Given the description of an element on the screen output the (x, y) to click on. 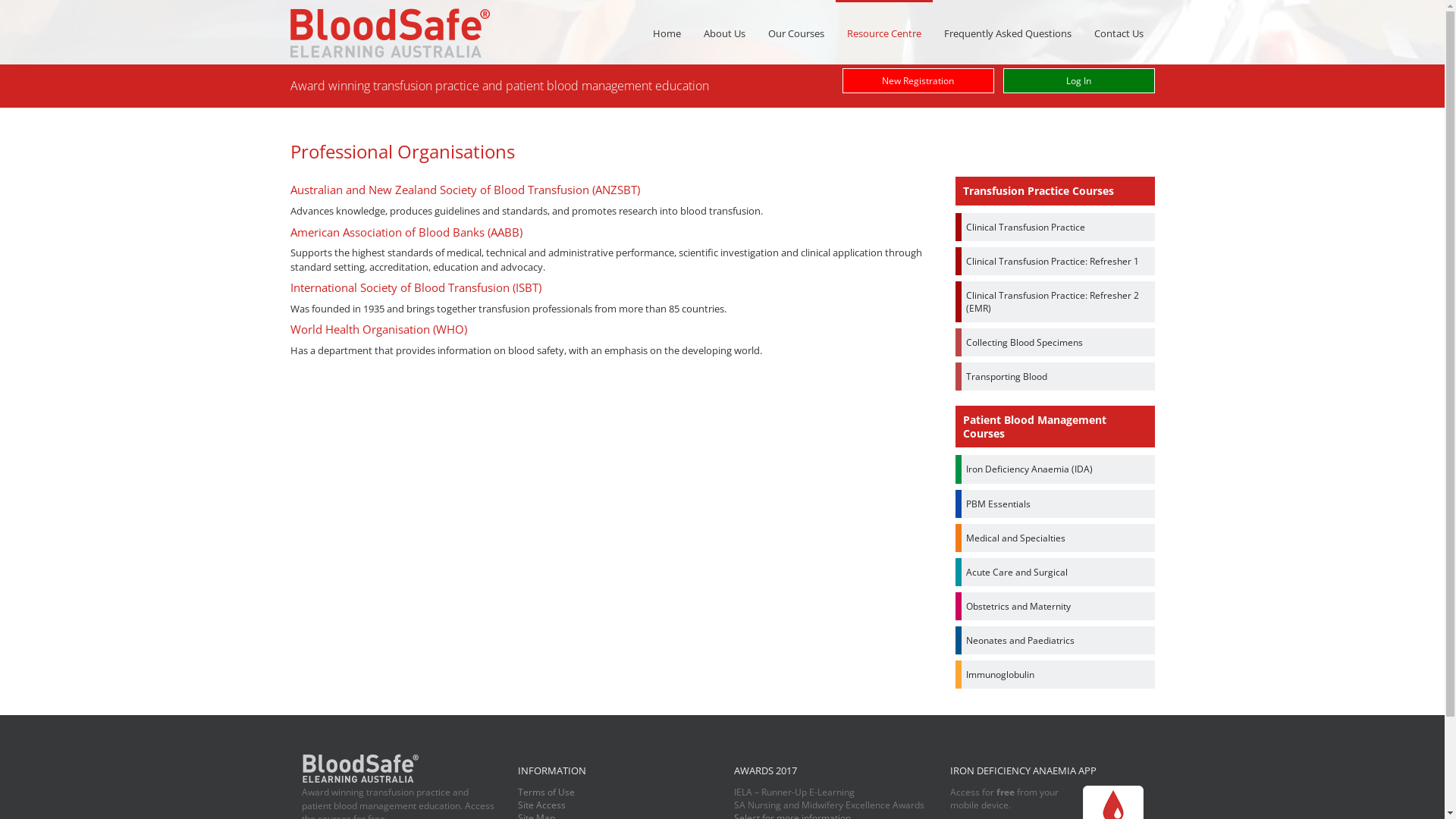
American Association of Blood Banks (AABB) Element type: text (405, 231)
International Society of Blood Transfusion (ISBT) Element type: text (414, 286)
Contact Us Element type: text (1118, 33)
Home Element type: text (666, 33)
New Registration Element type: text (917, 80)
Frequently Asked Questions Element type: text (1007, 33)
PBM Essentials Element type: text (1054, 503)
Site Access Element type: text (540, 804)
Neonates and Paediatrics Element type: text (1054, 640)
Iron Deficiency Anaemia (IDA) Element type: text (1054, 469)
Our Courses Element type: text (795, 33)
Obstetrics and Maternity Element type: text (1054, 606)
Medical and Specialties Element type: text (1054, 538)
Clinical Transfusion Practice: Refresher 2 (EMR) Element type: text (1054, 301)
Collecting Blood Specimens Element type: text (1054, 342)
Log In Element type: text (1078, 80)
About Us Element type: text (723, 33)
Acute Care and Surgical Element type: text (1054, 572)
Resource Centre Element type: text (883, 32)
Clinical Transfusion Practice: Refresher 1 Element type: text (1054, 261)
Terms of Use Element type: text (545, 791)
Immunoglobulin Element type: text (1054, 674)
Transporting Blood Element type: text (1054, 376)
World Health Organisation (WHO) Element type: text (377, 328)
Clinical Transfusion Practice Element type: text (1054, 227)
